Given the description of an element on the screen output the (x, y) to click on. 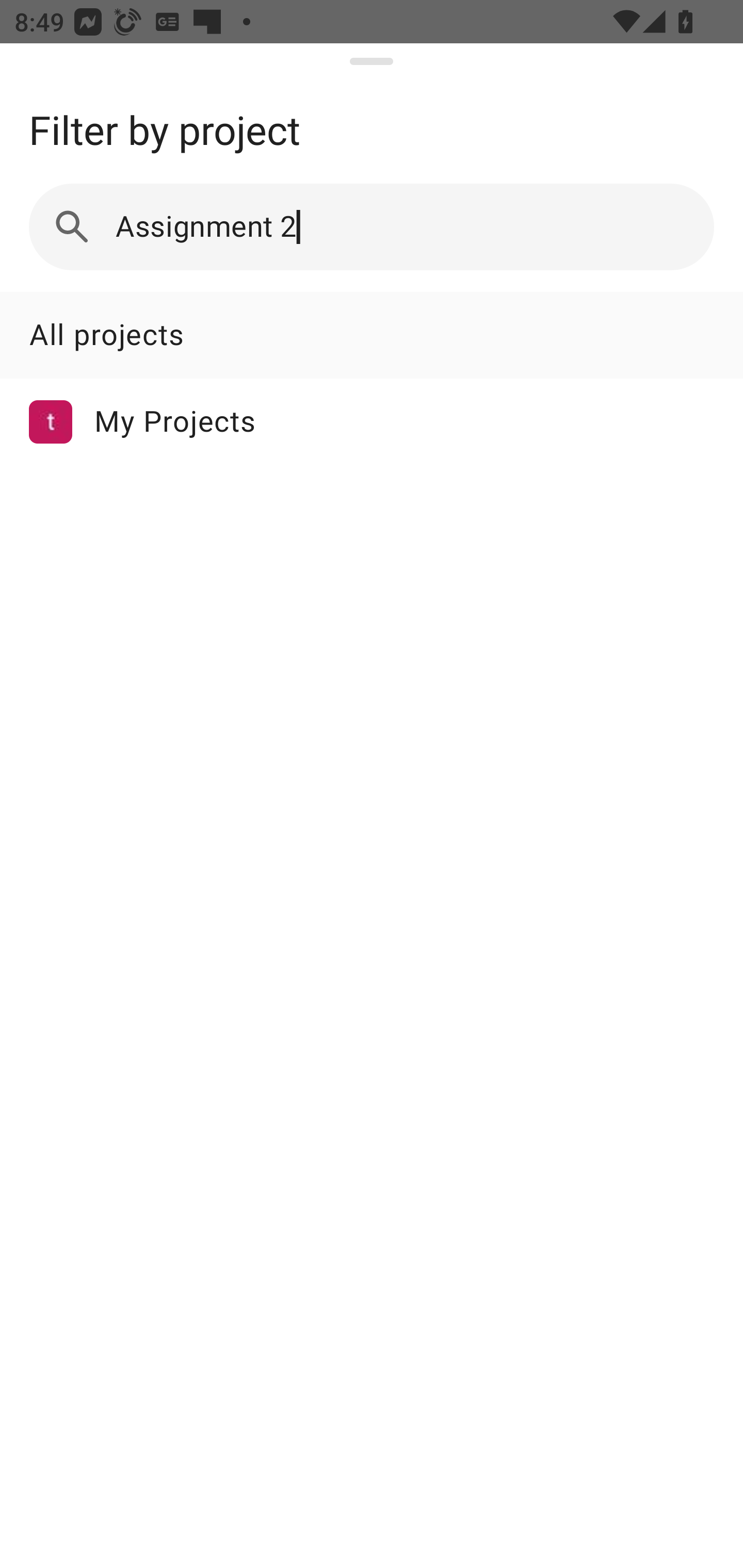
Assignment 2 Search (371, 226)
All projects (371, 334)
My Projects (371, 421)
